Given the description of an element on the screen output the (x, y) to click on. 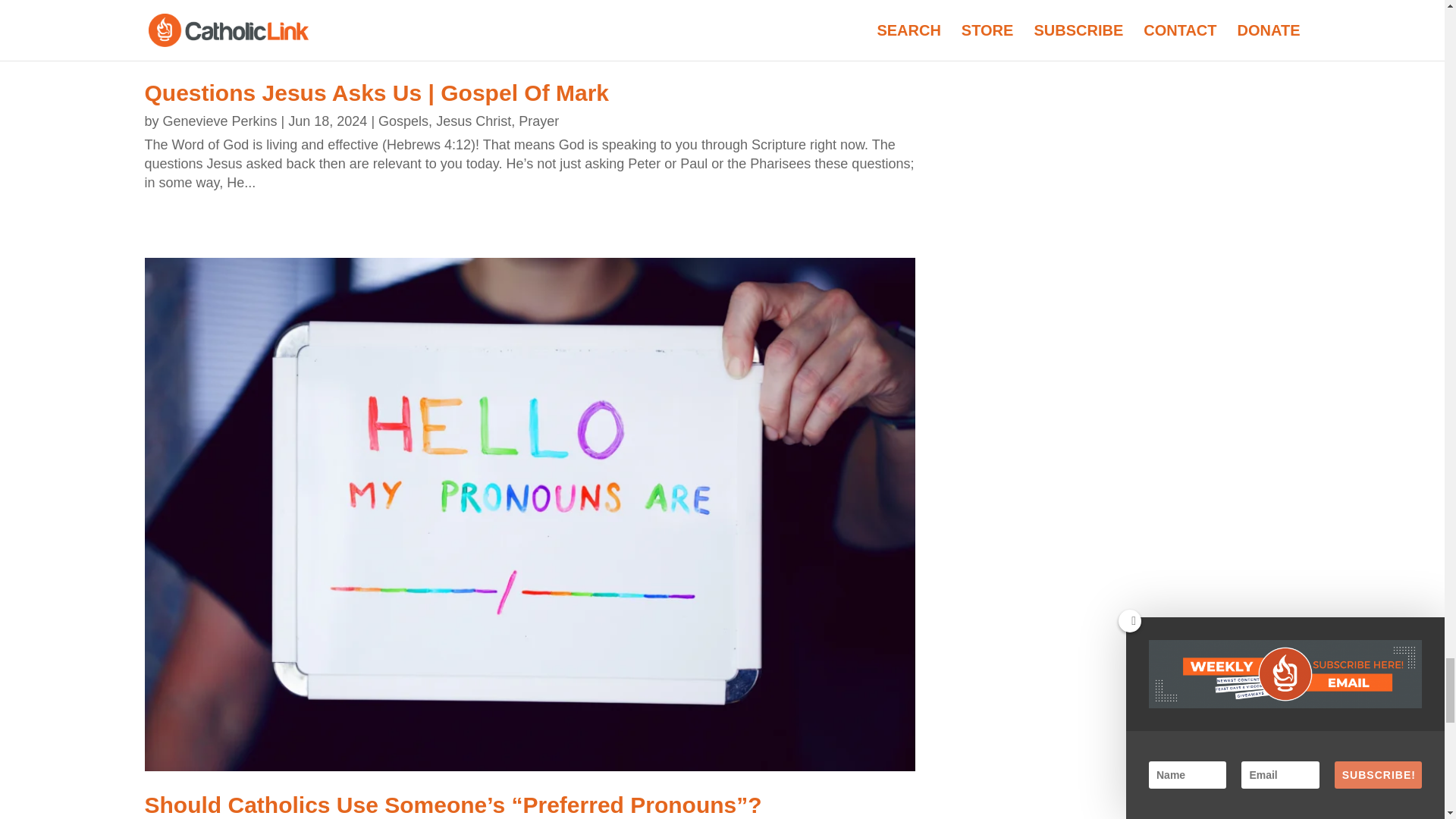
Posts by Genevieve Perkins (220, 120)
